Given the description of an element on the screen output the (x, y) to click on. 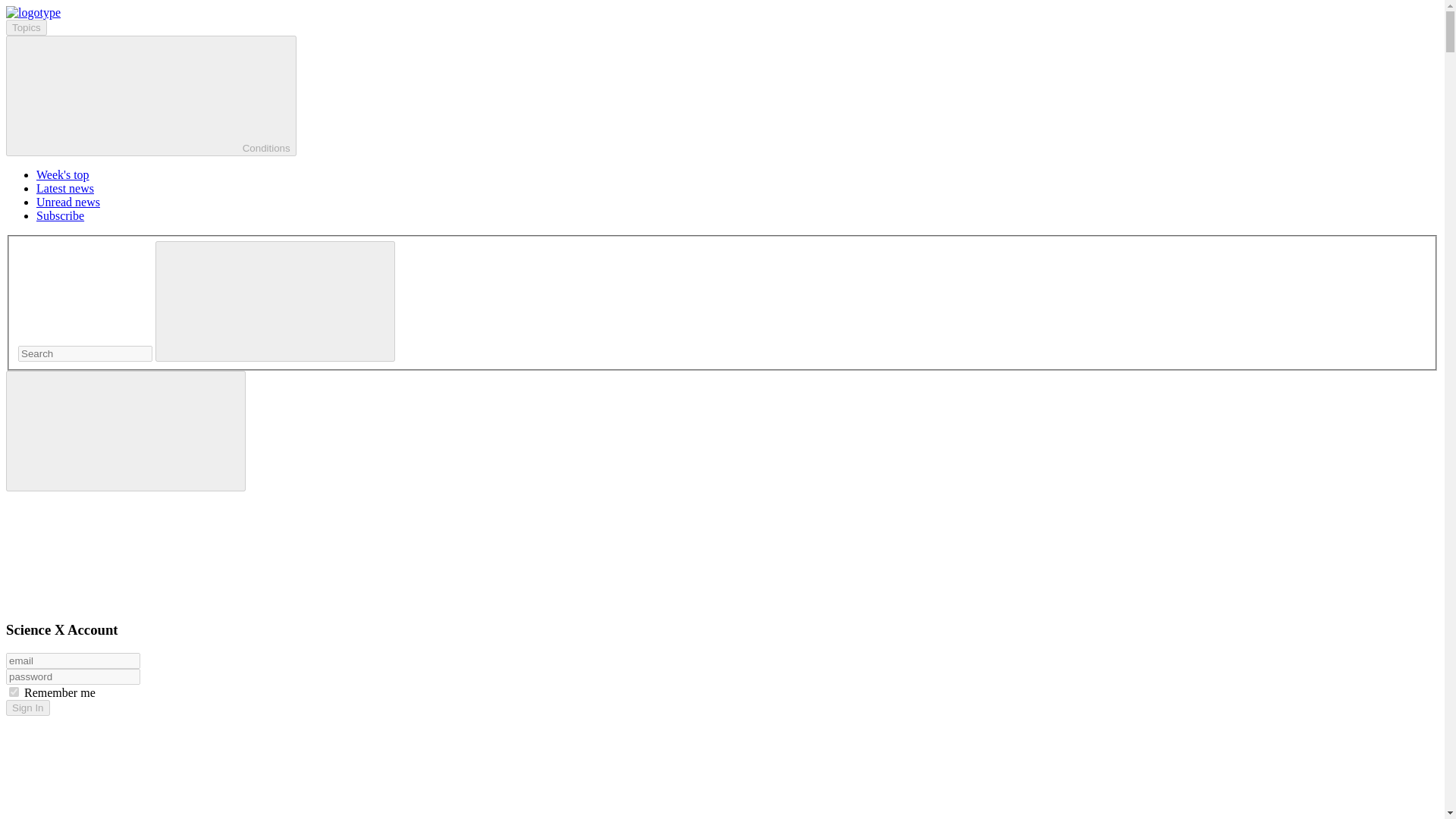
Topics (25, 27)
Week's top (62, 174)
Latest news (65, 187)
on (13, 691)
Conditions (151, 96)
Unread news (68, 201)
Sign In (27, 707)
Subscribe (60, 215)
